Given the description of an element on the screen output the (x, y) to click on. 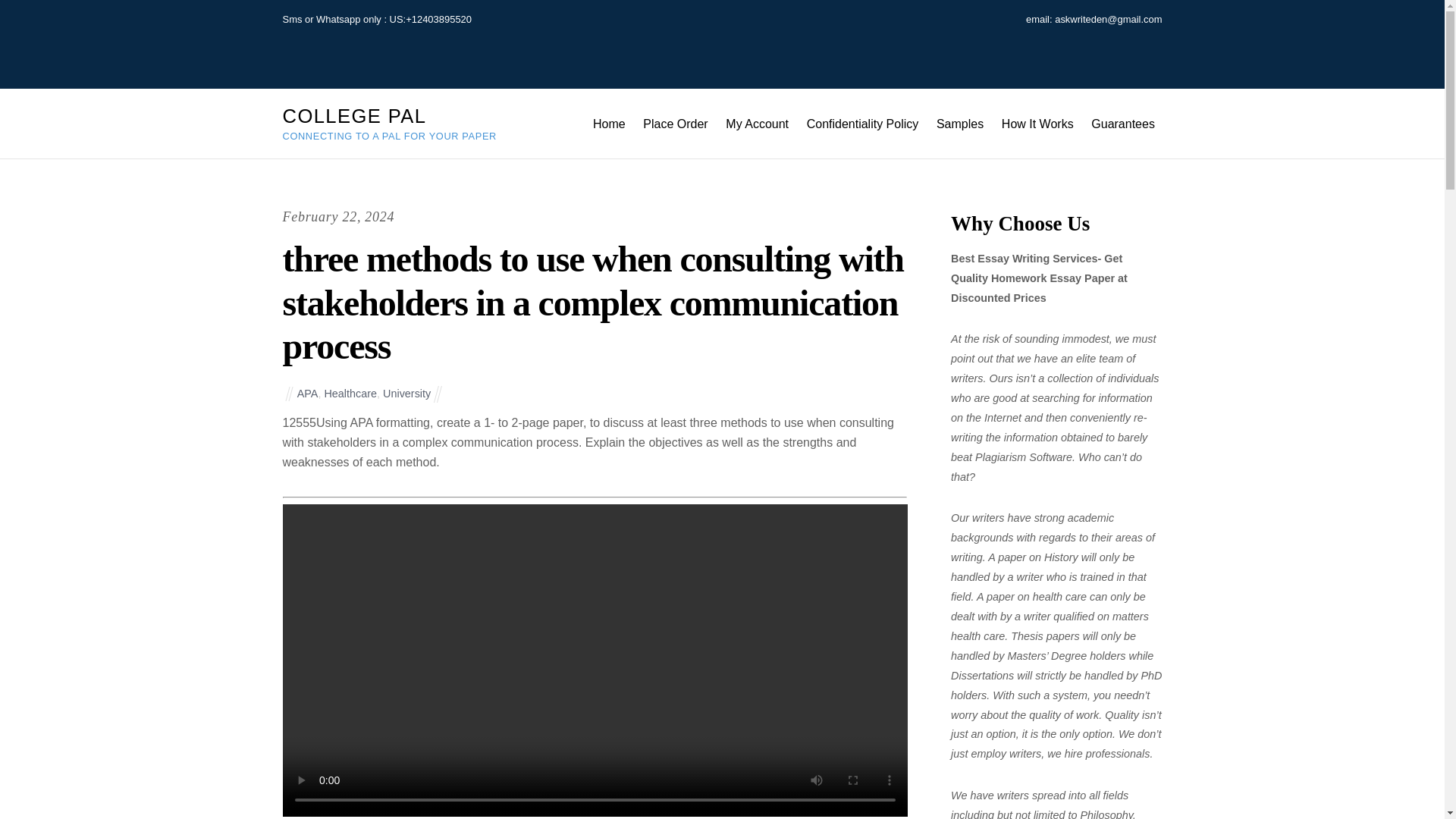
College Pal (354, 115)
How It Works (1037, 123)
My Account (757, 123)
Home (608, 123)
Guarantees (1122, 123)
University (406, 393)
Confidentiality Policy (862, 123)
APA (307, 393)
Place Order (676, 123)
COLLEGE PAL (354, 115)
